Given the description of an element on the screen output the (x, y) to click on. 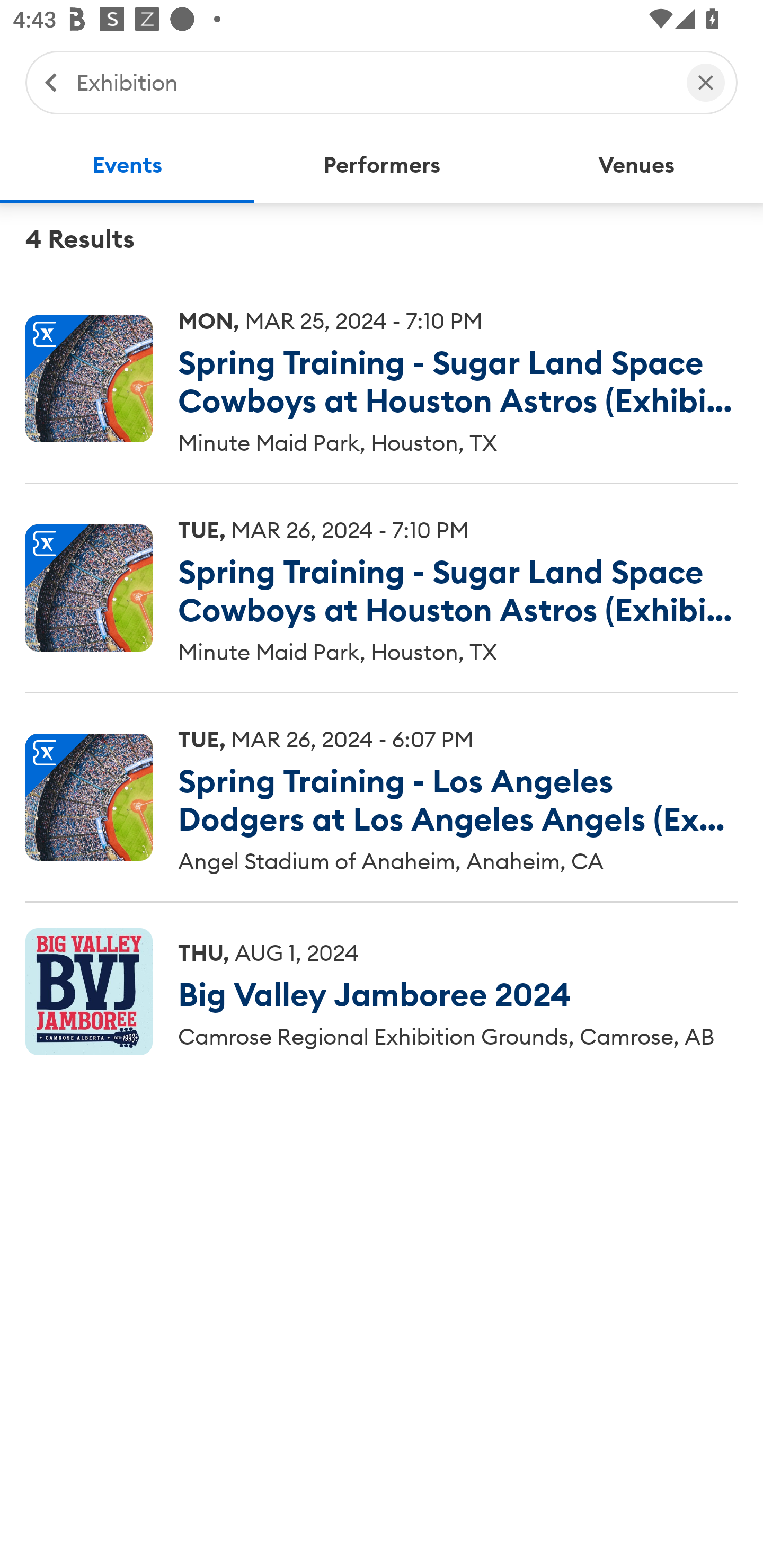
Exhibition (371, 81)
Clear Search (705, 81)
Performers (381, 165)
Venues (635, 165)
